Given the description of an element on the screen output the (x, y) to click on. 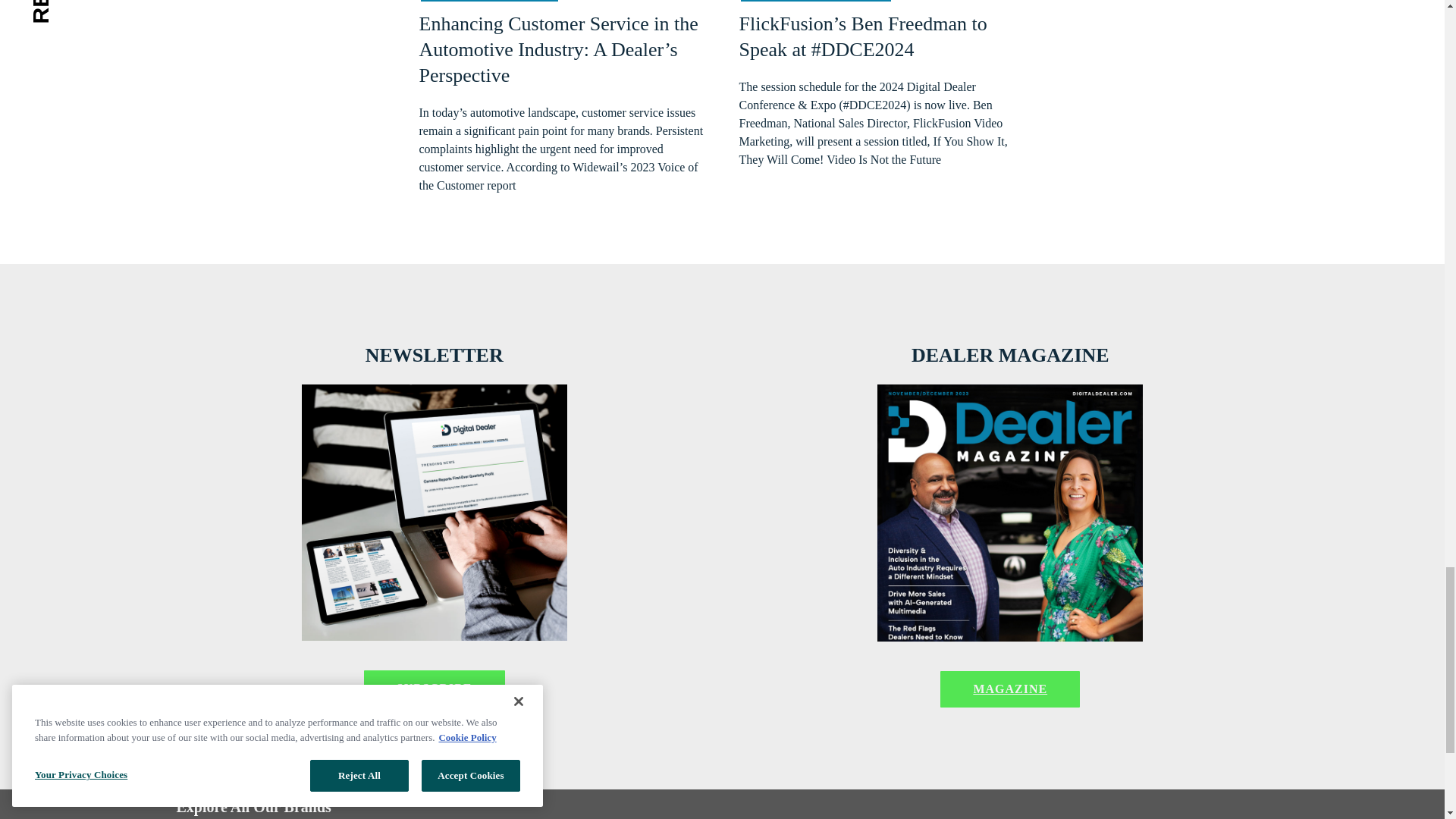
Dealer Magazine (1009, 512)
E-Newsletter-Mockup2-768x742 (434, 512)
